Given the description of an element on the screen output the (x, y) to click on. 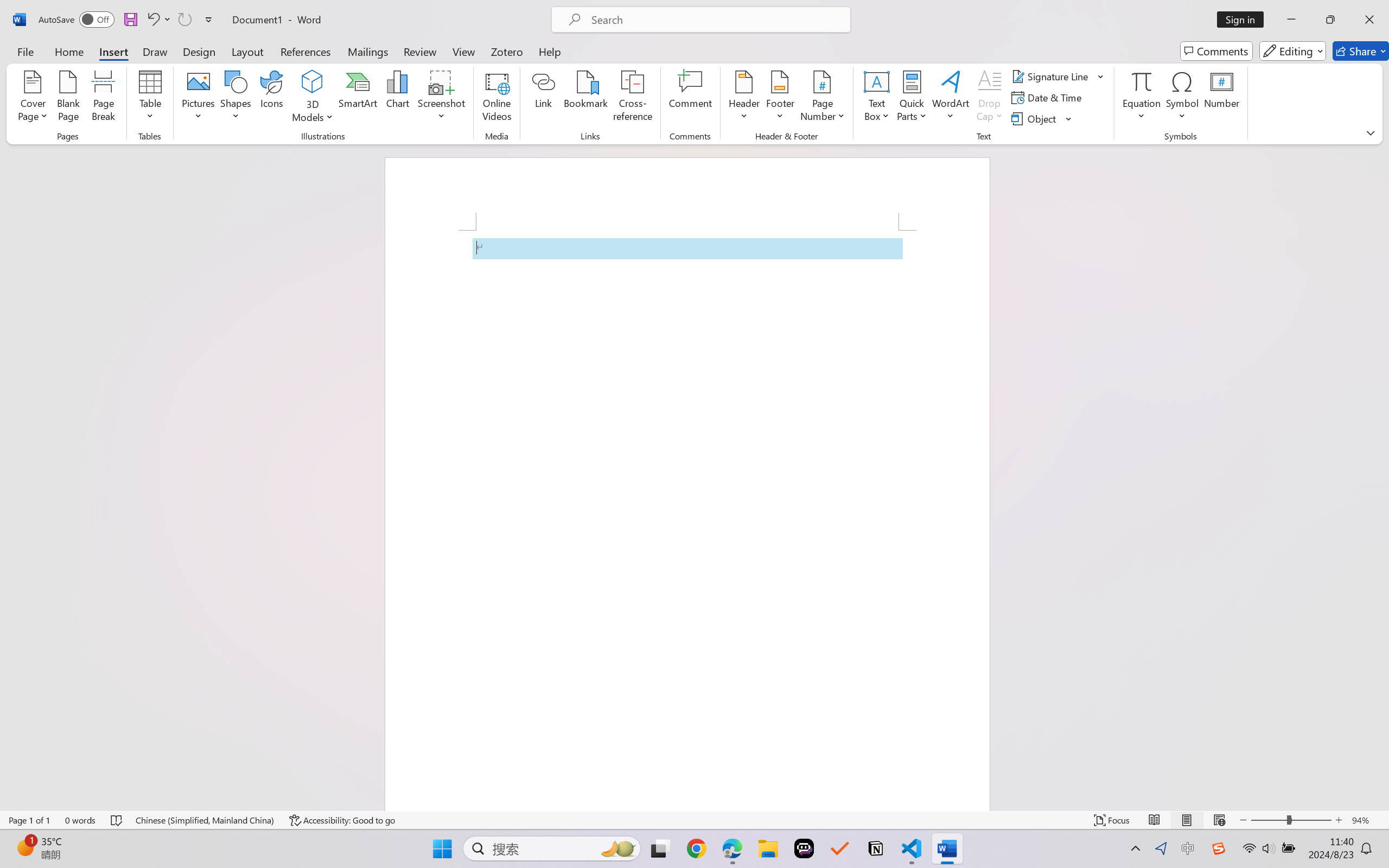
Link (543, 97)
Footer (780, 97)
Screenshot (441, 97)
Equation (1141, 81)
WordArt (950, 97)
